Given the description of an element on the screen output the (x, y) to click on. 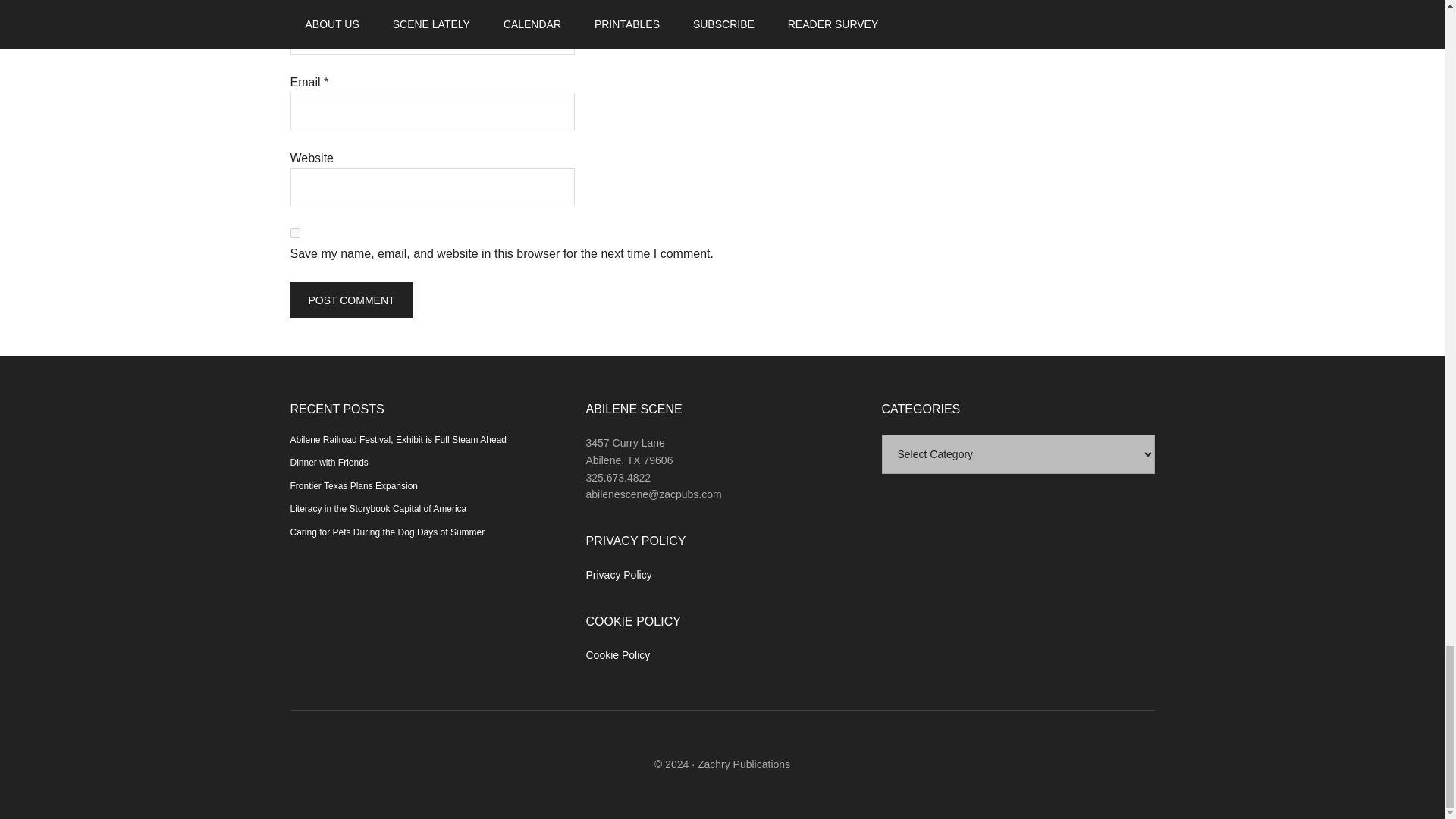
Privacy Policy  (617, 574)
Post Comment (350, 299)
yes (294, 233)
Cookie Policy  (617, 654)
